Given the description of an element on the screen output the (x, y) to click on. 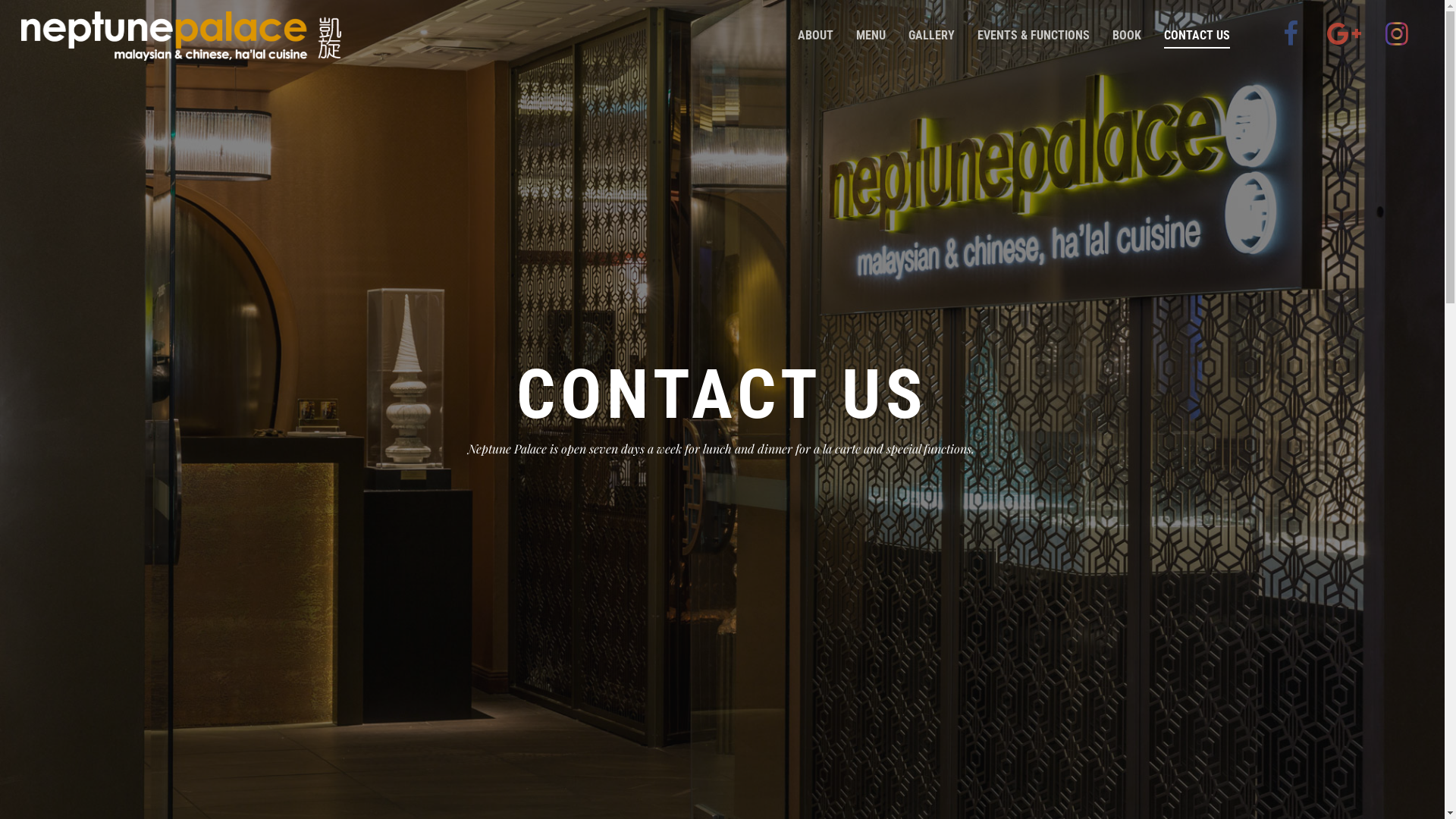
GALLERY Element type: text (931, 41)
MENU Element type: text (870, 41)
EVENTS & FUNCTIONS Element type: text (1033, 41)
BOOK Element type: text (1126, 41)
CONTACT US Element type: text (1197, 41)
ABOUT Element type: text (815, 41)
